Given the description of an element on the screen output the (x, y) to click on. 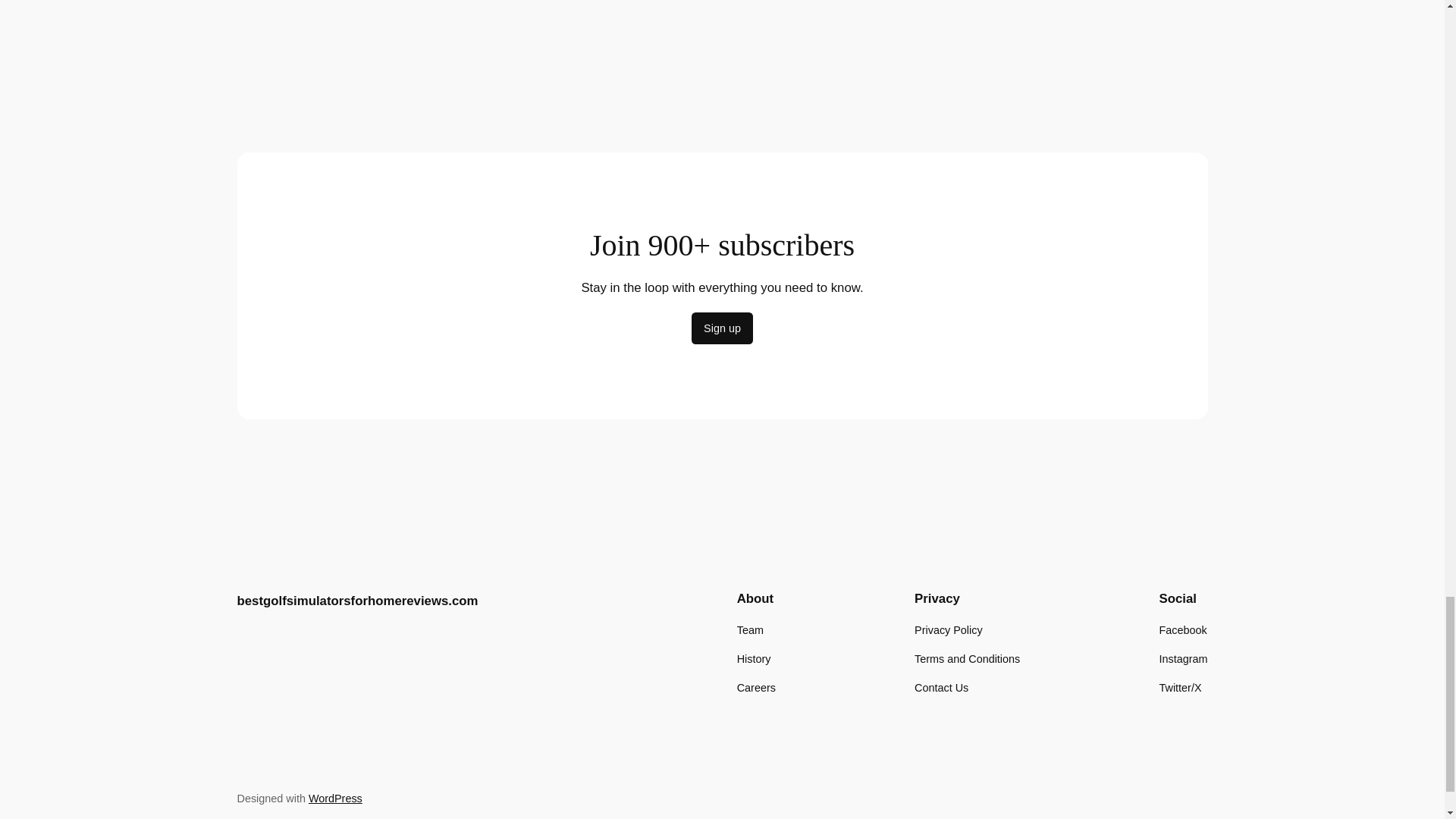
Contact Us (941, 687)
Privacy Policy (948, 629)
Careers (756, 687)
bestgolfsimulatorsforhomereviews.com (356, 600)
Terms and Conditions (967, 658)
WordPress (335, 798)
Sign up (721, 327)
Instagram (1182, 658)
Team (749, 629)
History (753, 658)
